Given the description of an element on the screen output the (x, y) to click on. 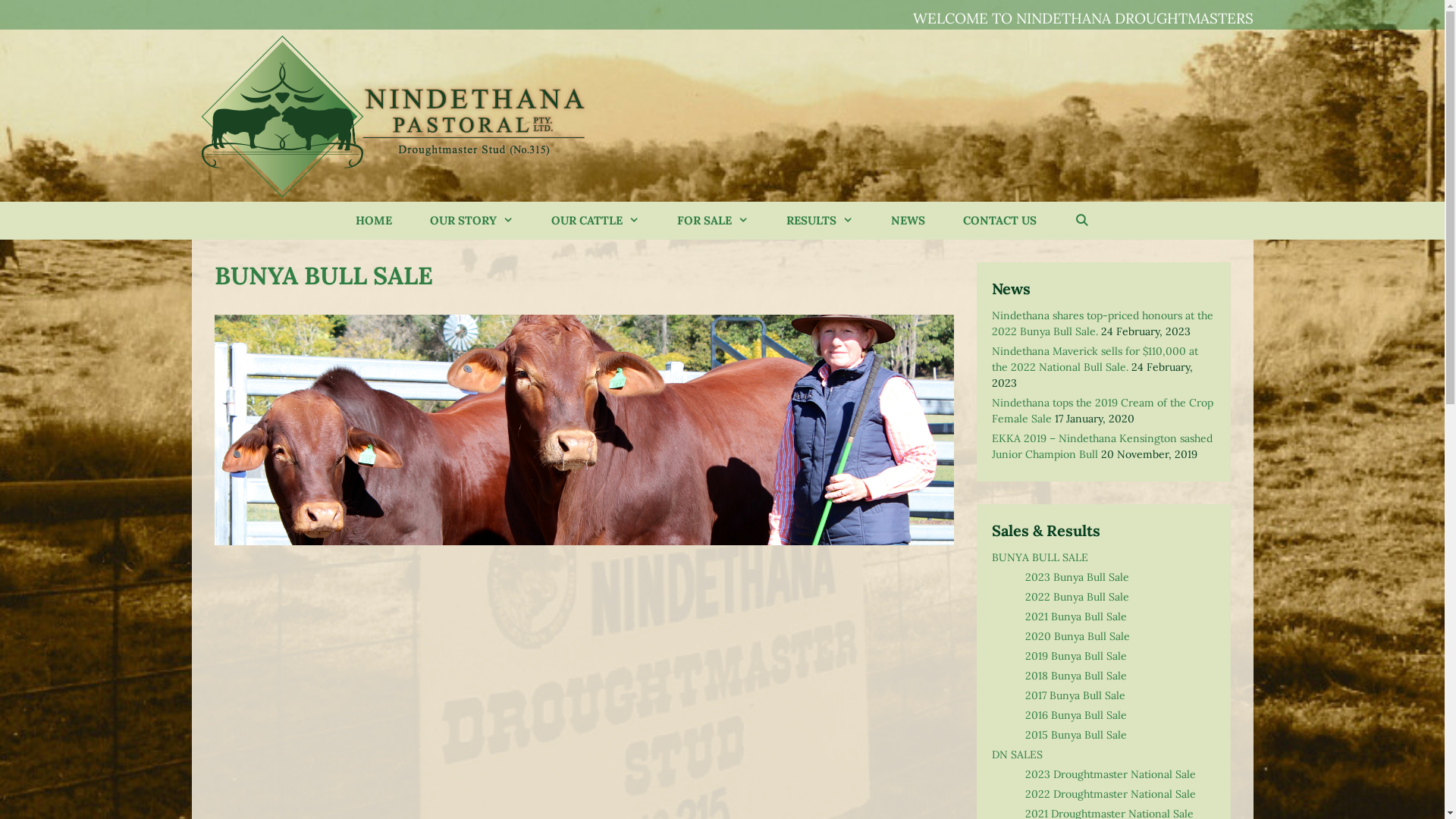
OUR CATTLE Element type: text (595, 220)
FOR SALE Element type: text (712, 220)
DN SALES Element type: text (1016, 754)
BUNYA BULL SALE Element type: text (1039, 557)
HOME Element type: text (373, 220)
NEWS Element type: text (908, 220)
CONTACT US Element type: text (999, 220)
OUR STORY Element type: text (471, 220)
RESULTS Element type: text (819, 220)
2023 Droughtmaster National Sale Element type: text (1110, 774)
2021 Bunya Bull Sale Element type: text (1075, 616)
2017 Bunya Bull Sale Element type: text (1075, 695)
2020 Bunya Bull Sale Element type: text (1077, 636)
2016 Bunya Bull Sale Element type: text (1075, 714)
2023 Bunya Bull Sale Element type: text (1077, 576)
2015 Bunya Bull Sale Element type: text (1075, 734)
2018 Bunya Bull Sale Element type: text (1075, 675)
2019 Bunya Bull Sale Element type: text (1075, 655)
2022 Droughtmaster National Sale Element type: text (1110, 793)
2022 Bunya Bull Sale Element type: text (1077, 596)
Nindethana tops the 2019 Cream of the Crop Female Sale Element type: text (1102, 410)
